Given the description of an element on the screen output the (x, y) to click on. 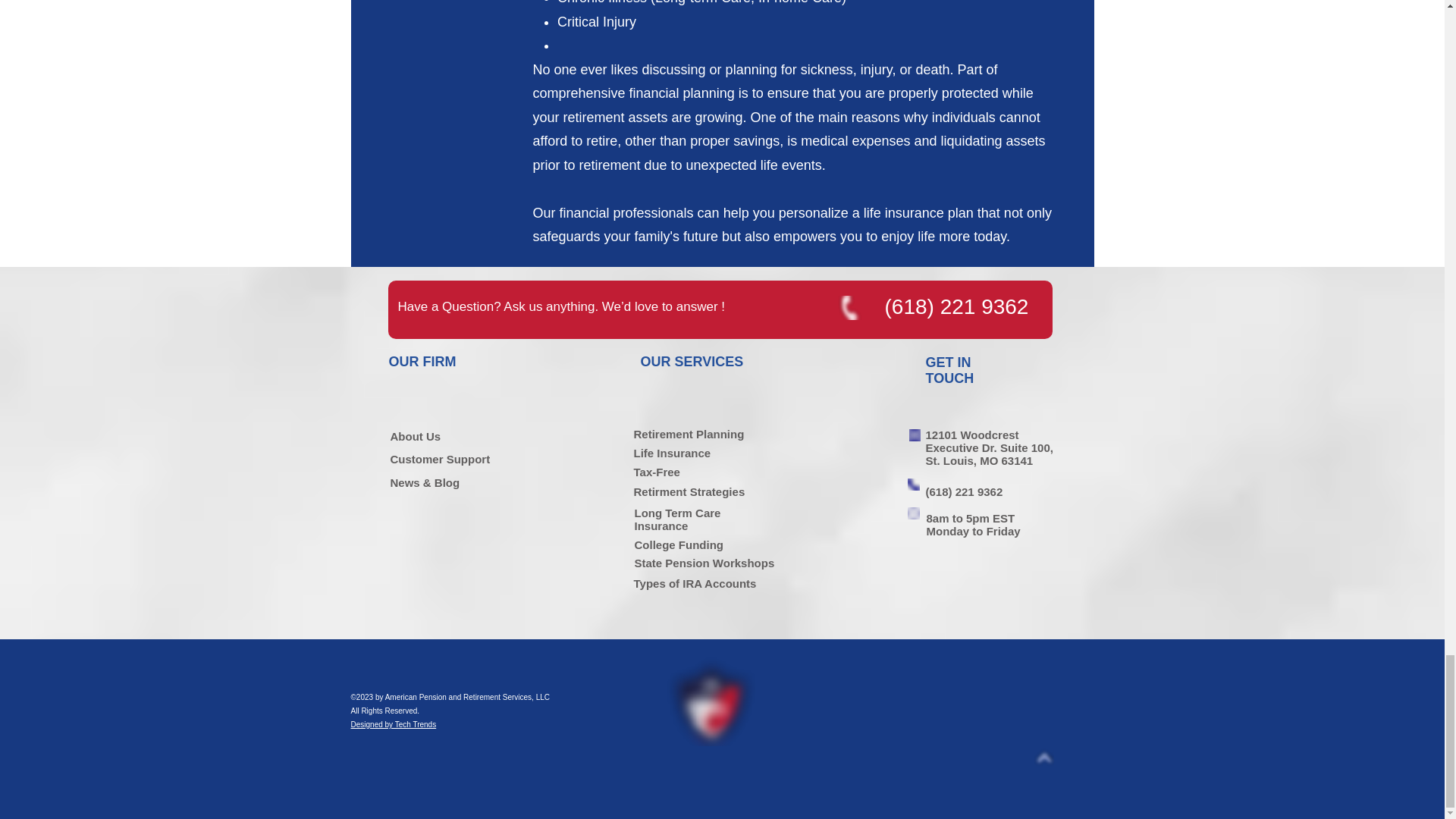
Retirement Planning (688, 433)
About Us (415, 436)
Customer Support (439, 459)
